Given the description of an element on the screen output the (x, y) to click on. 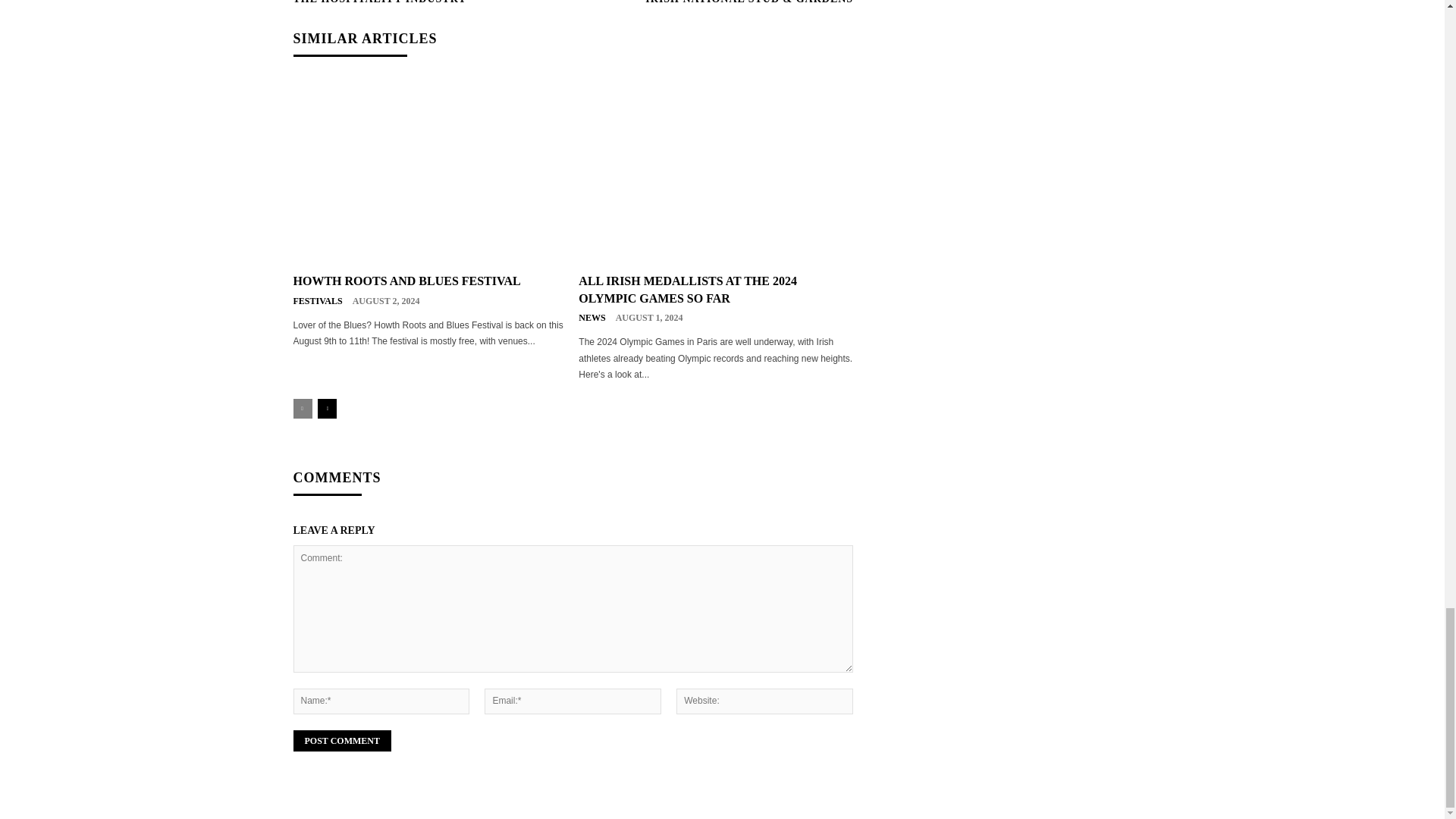
Post Comment (341, 740)
